Given the description of an element on the screen output the (x, y) to click on. 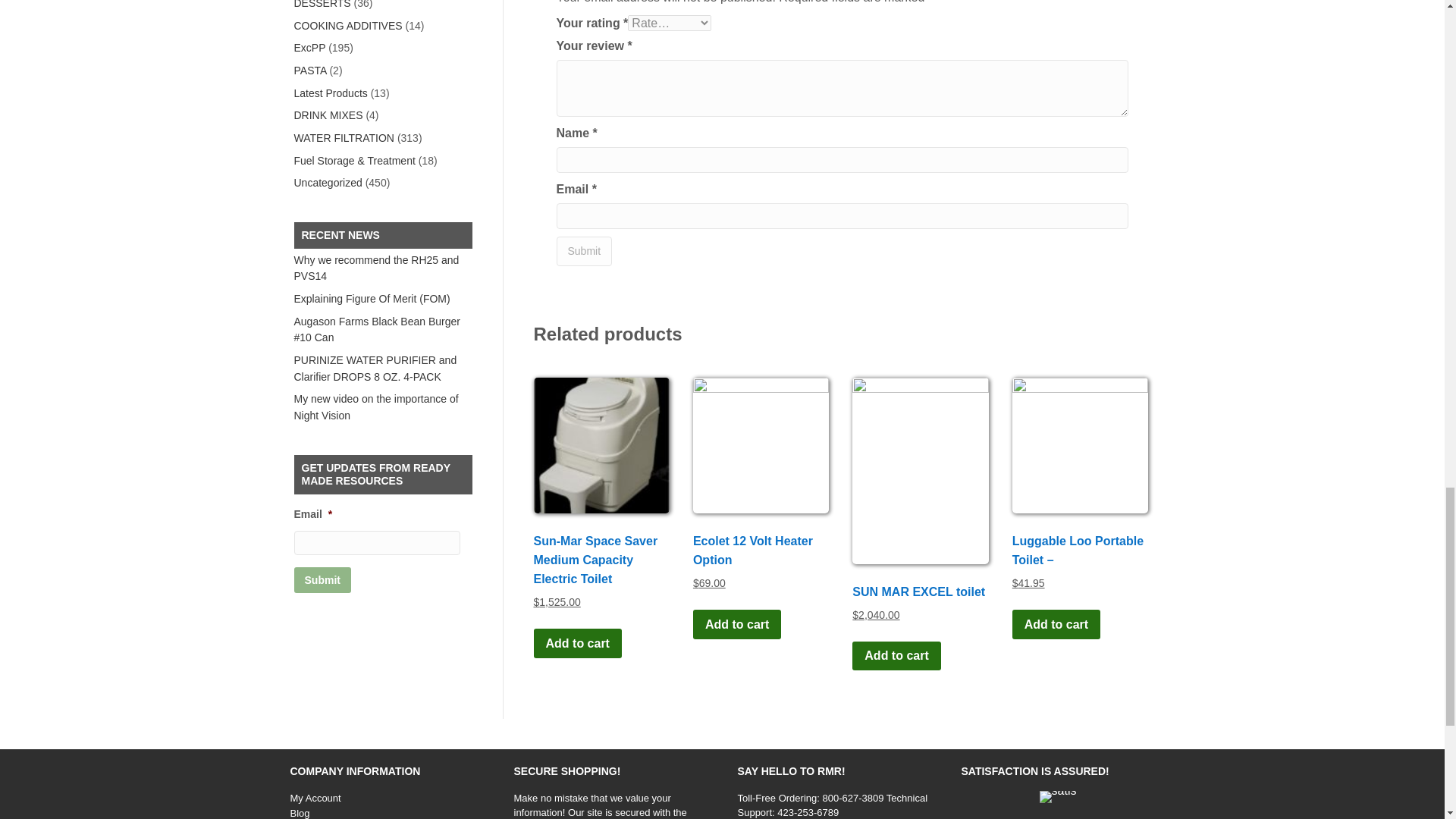
satis (1058, 797)
Submit (322, 579)
Submit (584, 251)
